Given the description of an element on the screen output the (x, y) to click on. 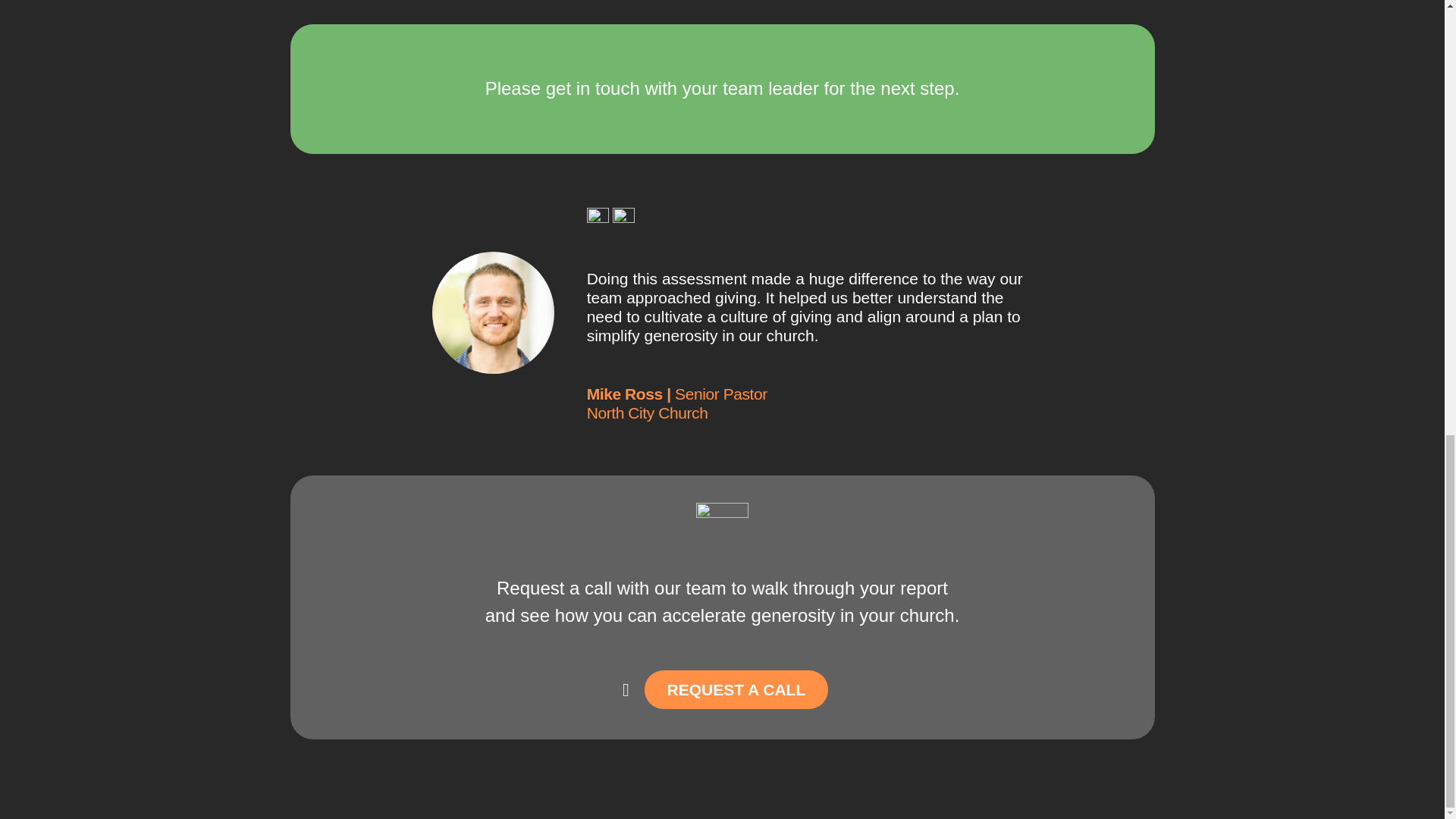
REQUEST A CALL (736, 689)
